Given the description of an element on the screen output the (x, y) to click on. 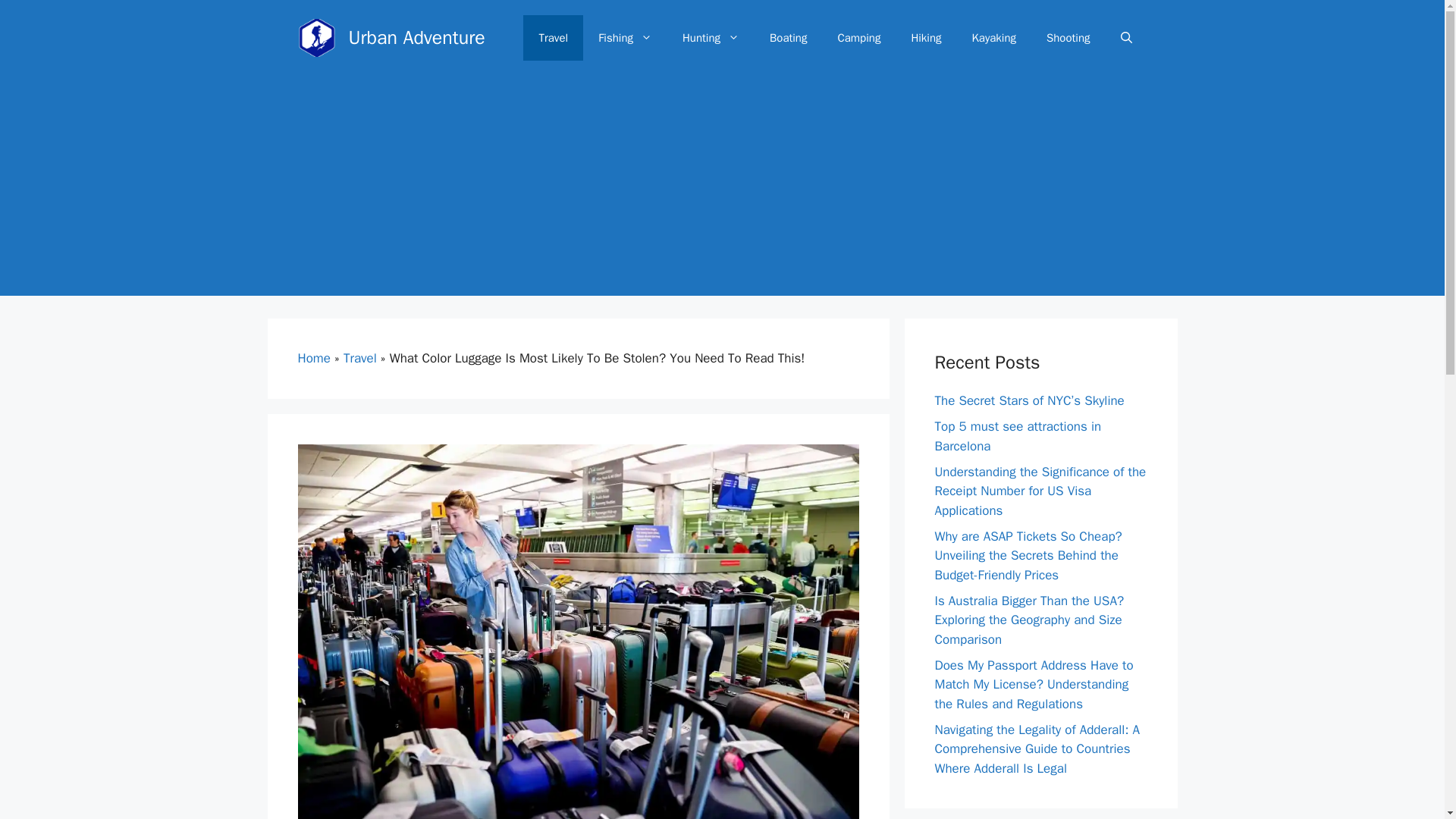
Hiking (925, 37)
Travel (552, 37)
Camping (858, 37)
Shooting (1067, 37)
Kayaking (993, 37)
Travel (360, 358)
Boating (788, 37)
Hunting (710, 37)
Urban Adventure (416, 37)
